Given the description of an element on the screen output the (x, y) to click on. 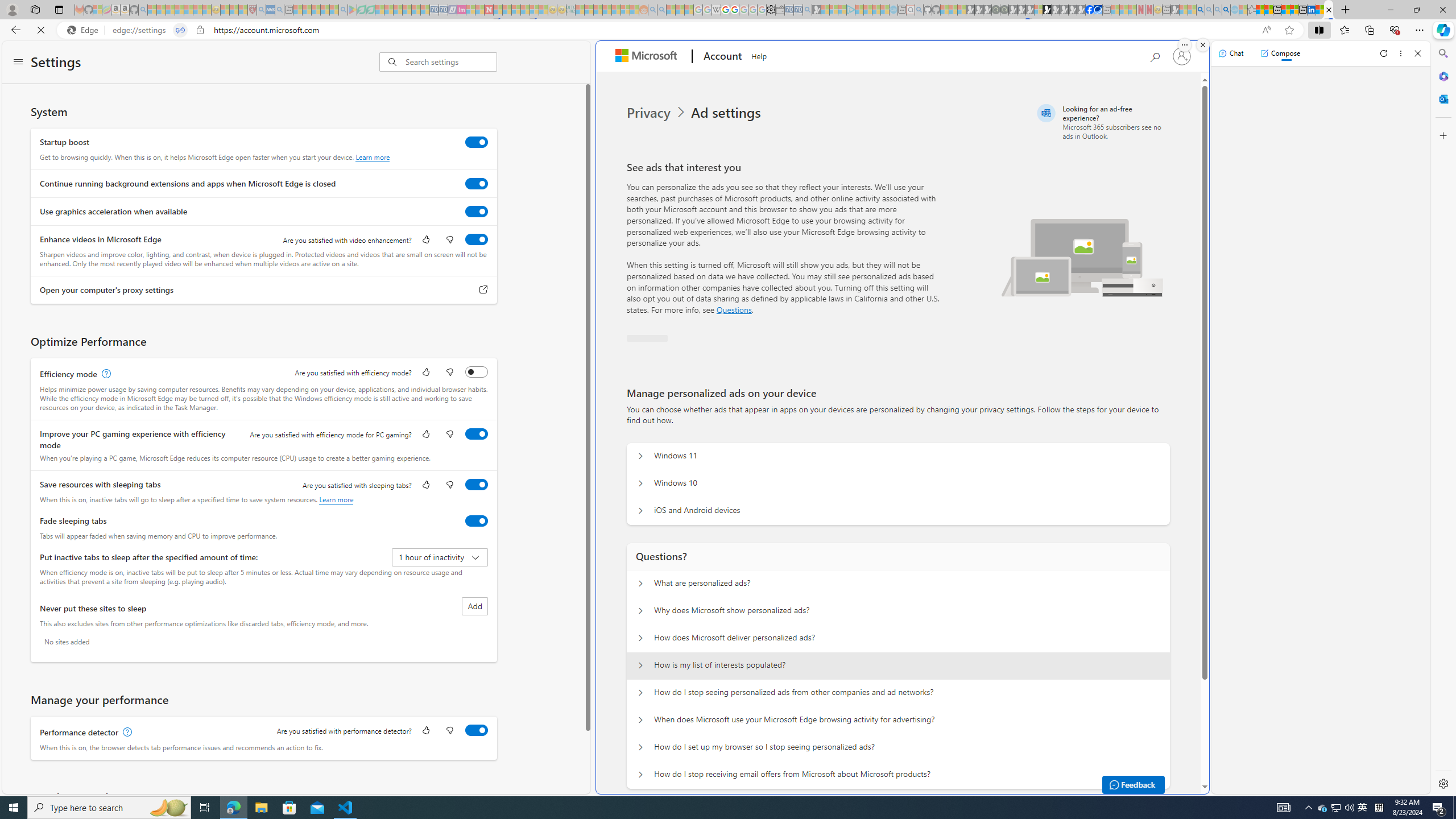
Search Microsoft.com (1154, 54)
Bluey: Let's Play! - Apps on Google Play - Sleeping (352, 9)
Chat (1230, 52)
Looking for an ad-free experience? (1101, 122)
Close split screen. (1202, 45)
